Given the description of an element on the screen output the (x, y) to click on. 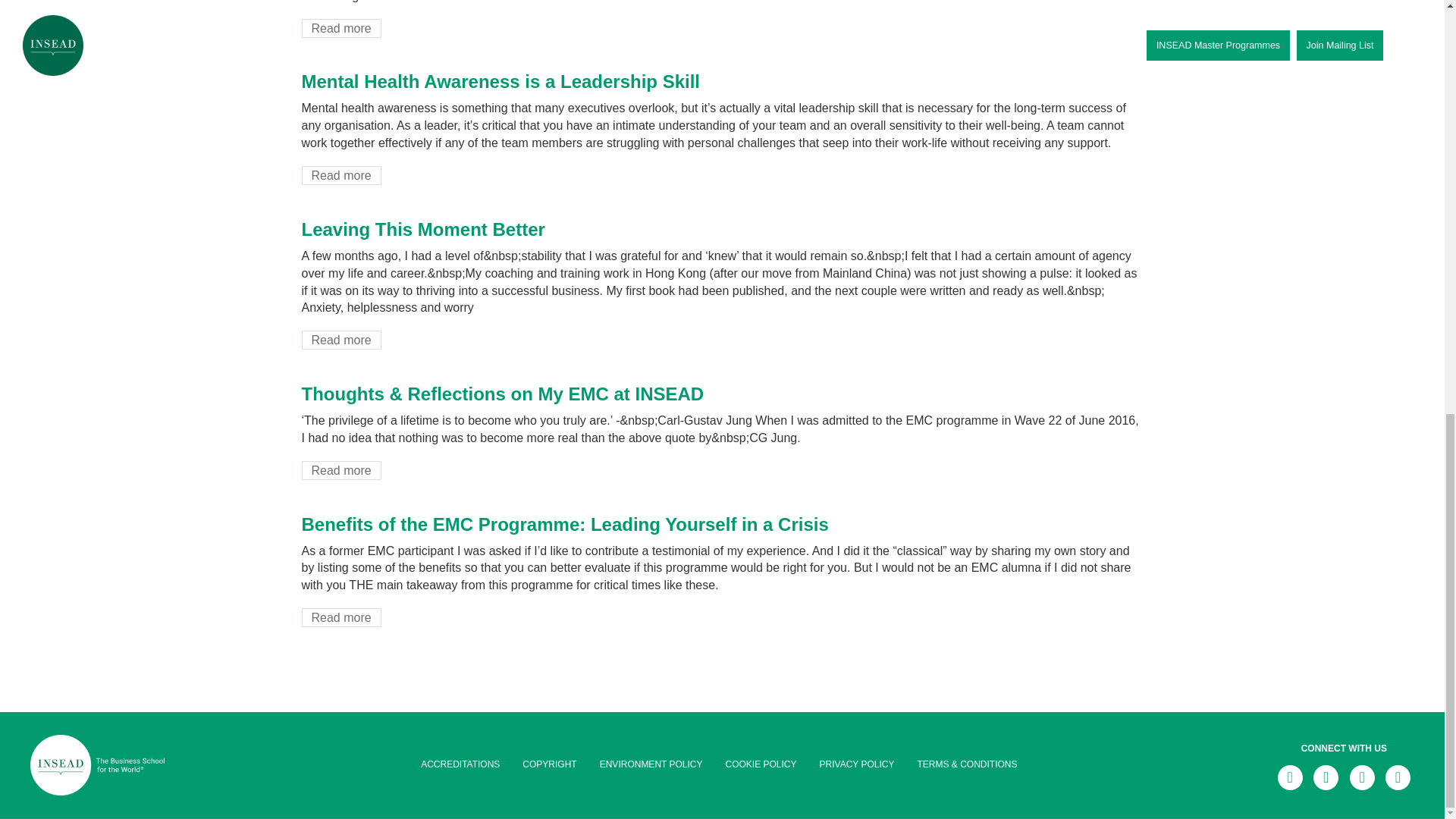
COPYRIGHT (549, 764)
Benefits of the EMC Programme: Leading Yourself in a Crisis (341, 339)
Remote Management Demands Unique Leadership Skills (341, 617)
ACCREDITATIONS (341, 27)
PRIVACY POLICY (460, 764)
Benefits of the EMC Programme: Leading Yourself in a Crisis (856, 764)
